Given the description of an element on the screen output the (x, y) to click on. 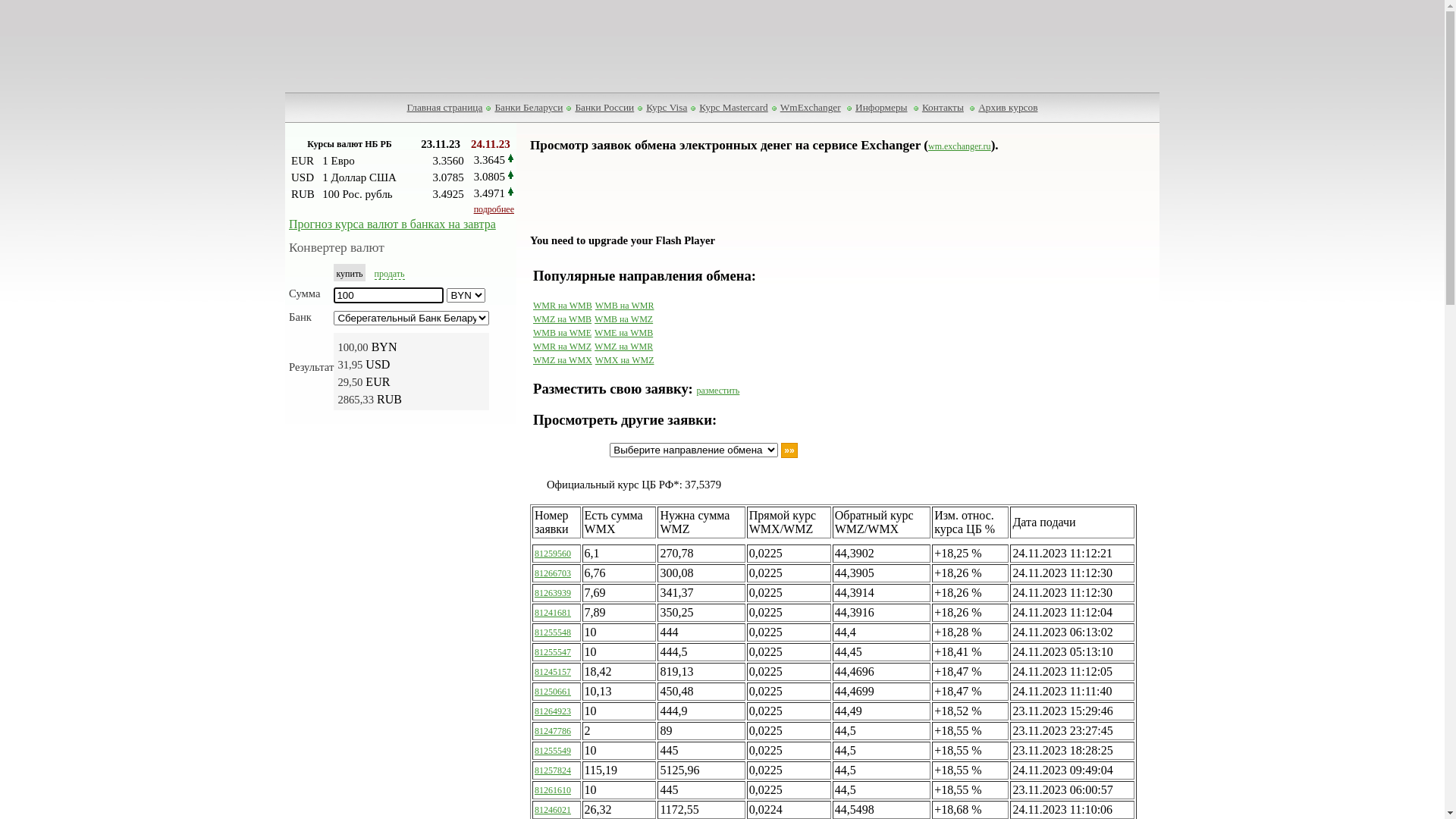
Advertisement Element type: hover (721, 45)
81255548 Element type: text (552, 632)
wm.exchanger.ru Element type: text (959, 146)
81247786 Element type: text (552, 730)
81245157 Element type: text (552, 671)
Advertisement Element type: hover (806, 200)
81263939 Element type: text (552, 592)
81261610 Element type: text (552, 789)
81250661 Element type: text (552, 691)
Advertisement Element type: hover (1005, 369)
81246021 Element type: text (552, 809)
81257824 Element type: text (552, 770)
81266703 Element type: text (552, 572)
81255549 Element type: text (552, 750)
81241681 Element type: text (552, 612)
81259560 Element type: text (552, 553)
81264923 Element type: text (552, 711)
81255547 Element type: text (552, 651)
WmExchanger Element type: text (810, 106)
